Given the description of an element on the screen output the (x, y) to click on. 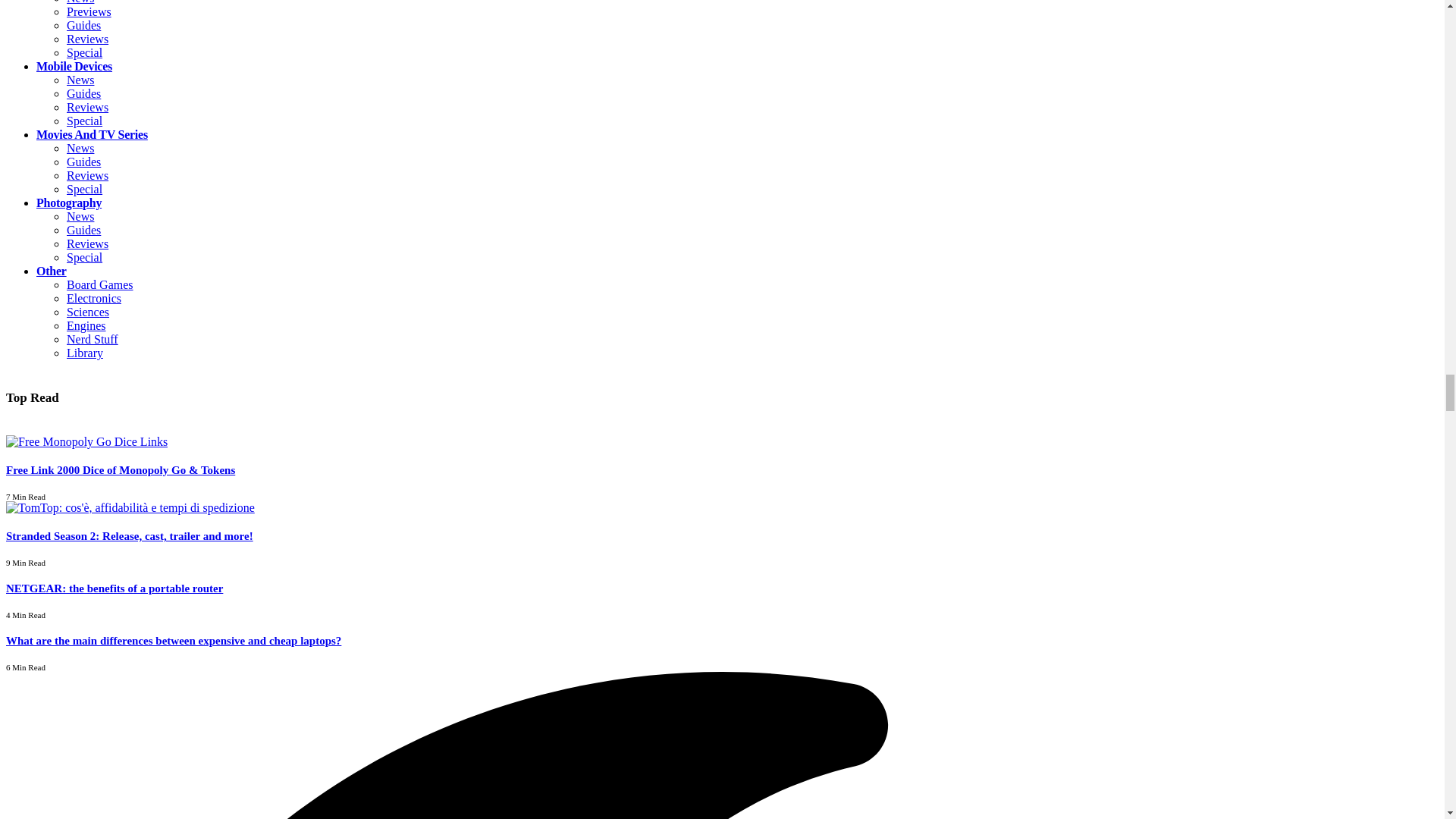
NETGEAR: the benefits of a portable router (113, 588)
Stranded Season 2: Release, cast, trailer and more! (129, 535)
Stranded Season 2: Release, cast, trailer and more! (129, 507)
